Given the description of an element on the screen output the (x, y) to click on. 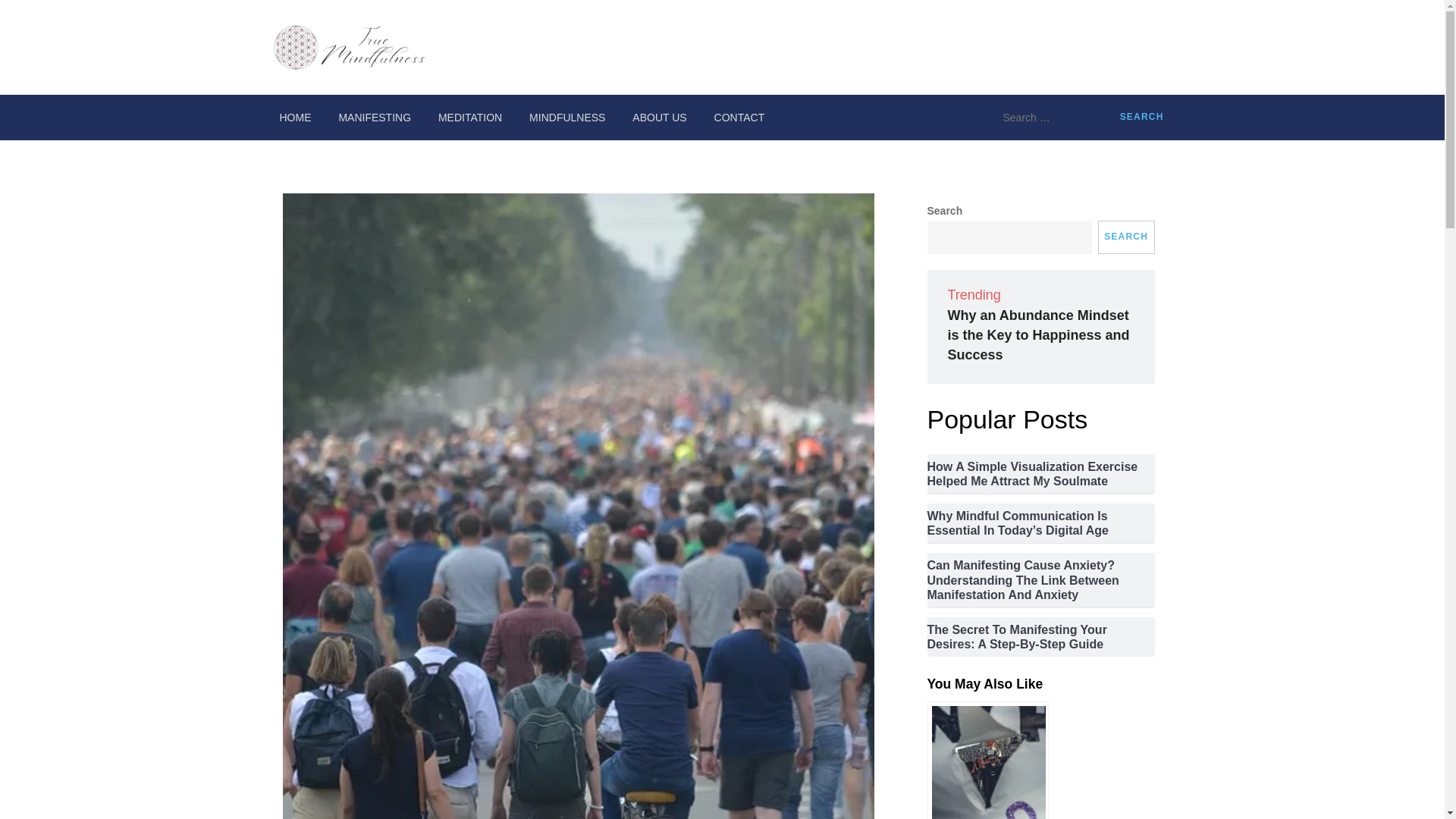
Search (1141, 117)
HOME (294, 117)
SEARCH (1125, 236)
MEDITATION (469, 117)
CONTACT (739, 117)
Search (1141, 117)
True Mindfulness (524, 60)
10 Proven Steps for Manifesting Success in Your Life (987, 760)
Search (1141, 117)
MINDFULNESS (566, 117)
ABOUT US (659, 117)
The Secret To Manifesting Your Desires: A Step-By-Step Guide (1040, 636)
MANIFESTING (374, 117)
Why an Abundance Mindset is the Key to Happiness and Success (1038, 334)
